Given the description of an element on the screen output the (x, y) to click on. 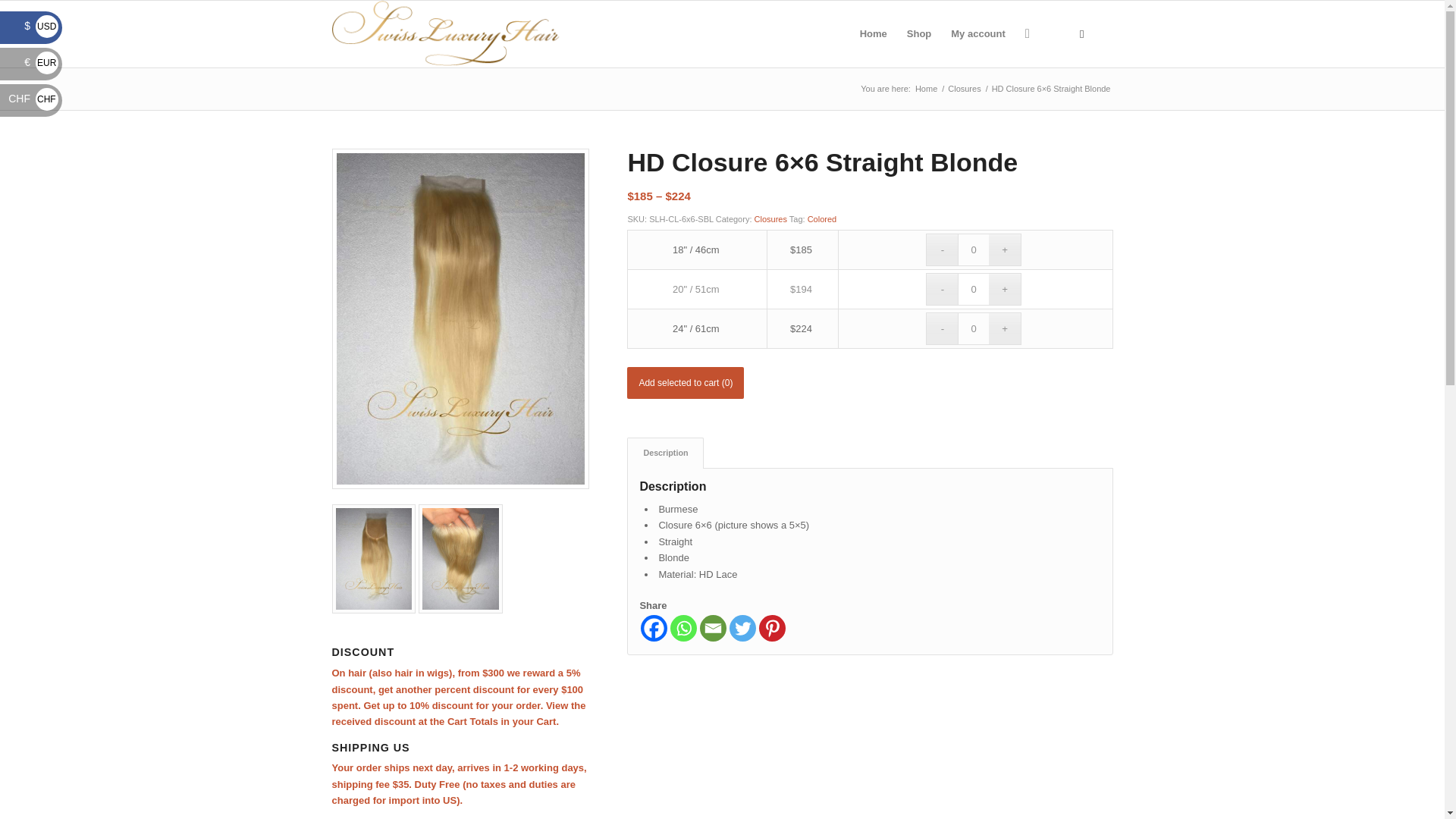
- (942, 249)
Description (665, 452)
Colored (822, 218)
Swiss Luxury Hair (925, 89)
Home (873, 33)
Closures (963, 89)
- (942, 328)
Shop (919, 33)
Home (925, 89)
0 (974, 328)
Closures (770, 218)
0 (974, 288)
Closures (963, 89)
0 (974, 249)
- (942, 288)
